Given the description of an element on the screen output the (x, y) to click on. 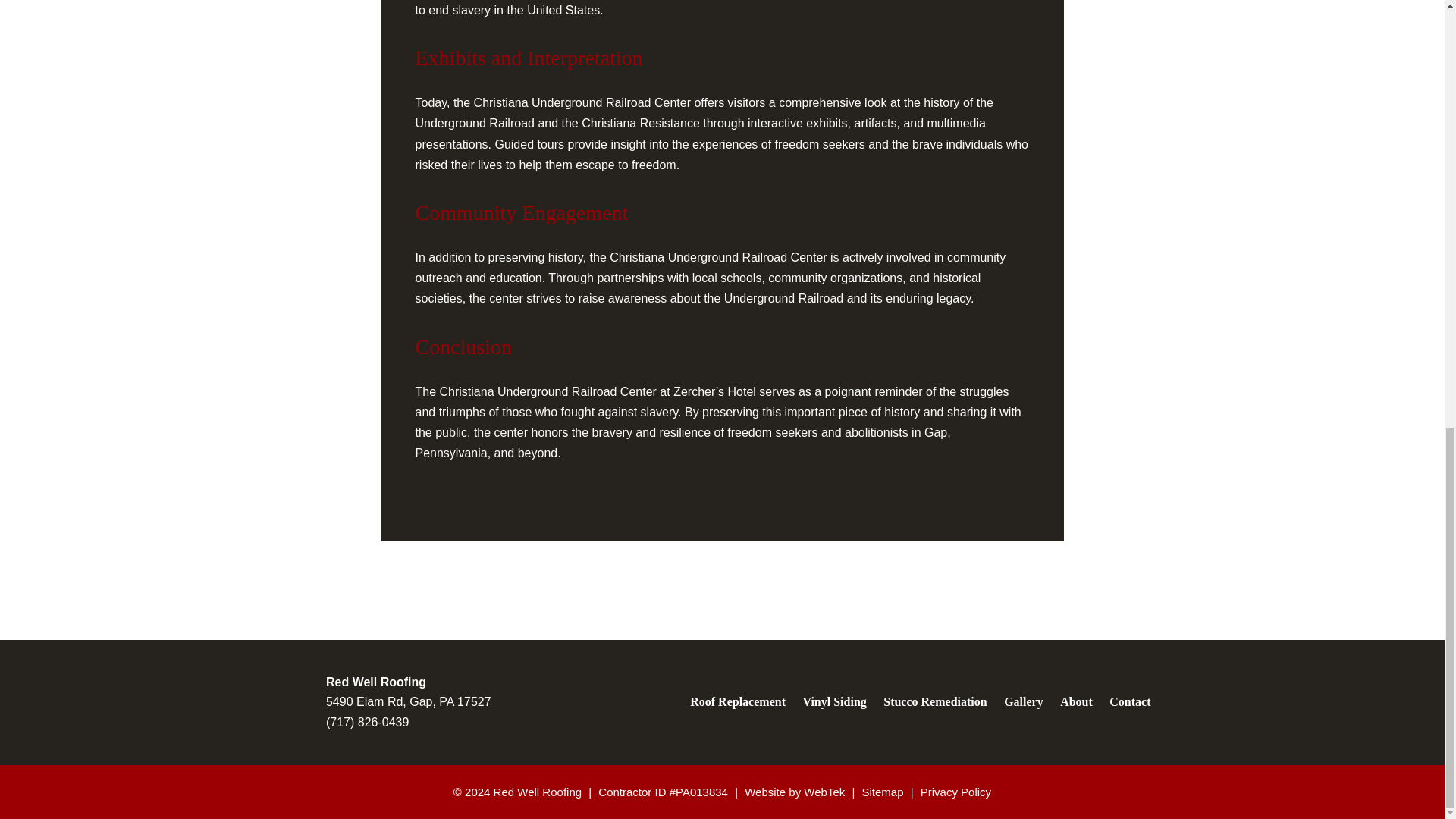
WebTek (823, 791)
About (1075, 701)
Privacy Policy (955, 791)
Contact (1126, 701)
Sitemap (881, 791)
Vinyl Siding (833, 701)
Gallery (1023, 701)
Stucco Remediation (934, 701)
Roof Replacement (741, 701)
